Given the description of an element on the screen output the (x, y) to click on. 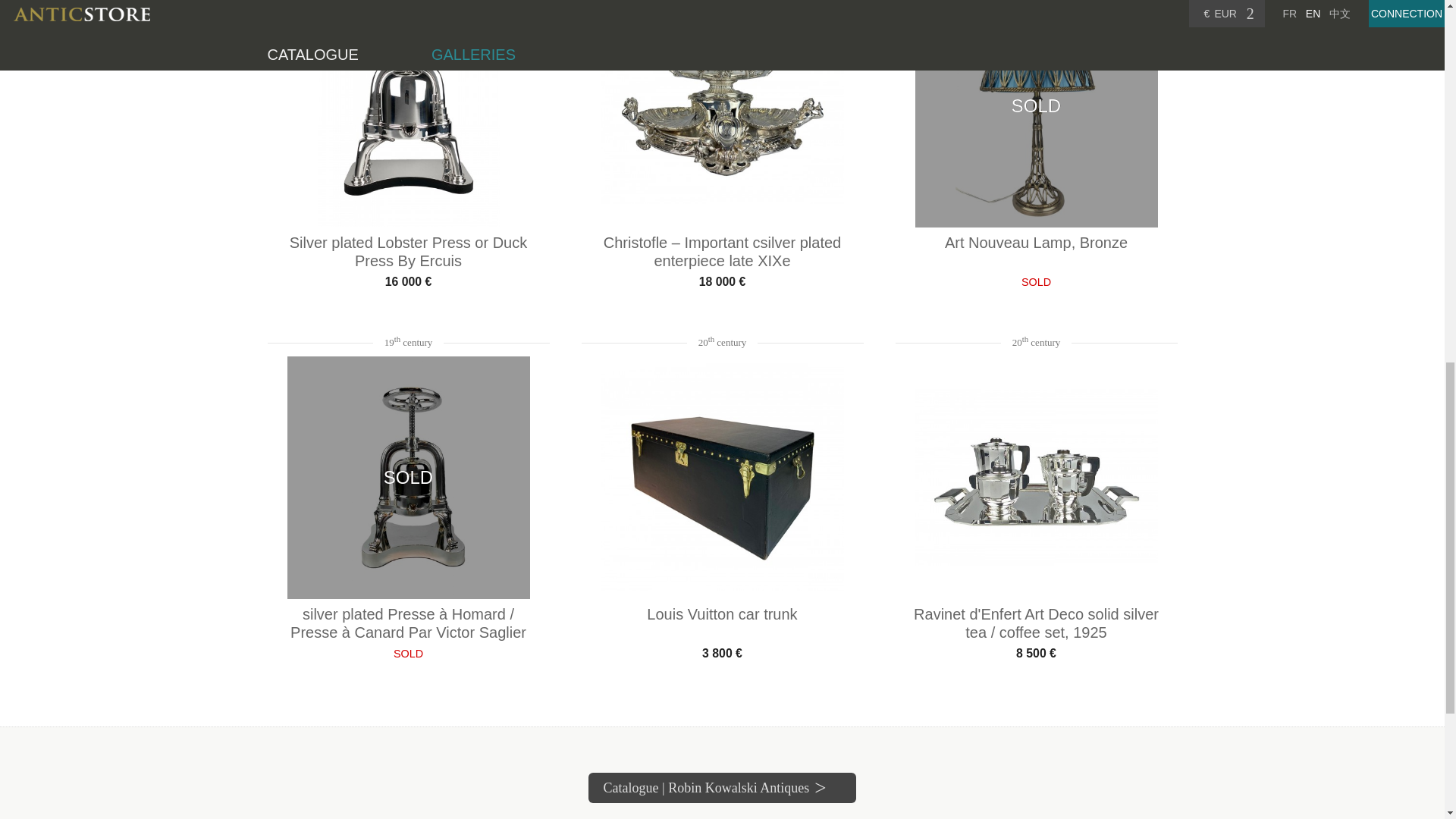
SOLD (407, 477)
SOLD (1035, 113)
Art Nouveau Lamp, Bronze (1035, 248)
Silver plated Lobster Press or Duck Press By Ercuis (407, 248)
Louis Vuitton car trunk (721, 619)
